Given the description of an element on the screen output the (x, y) to click on. 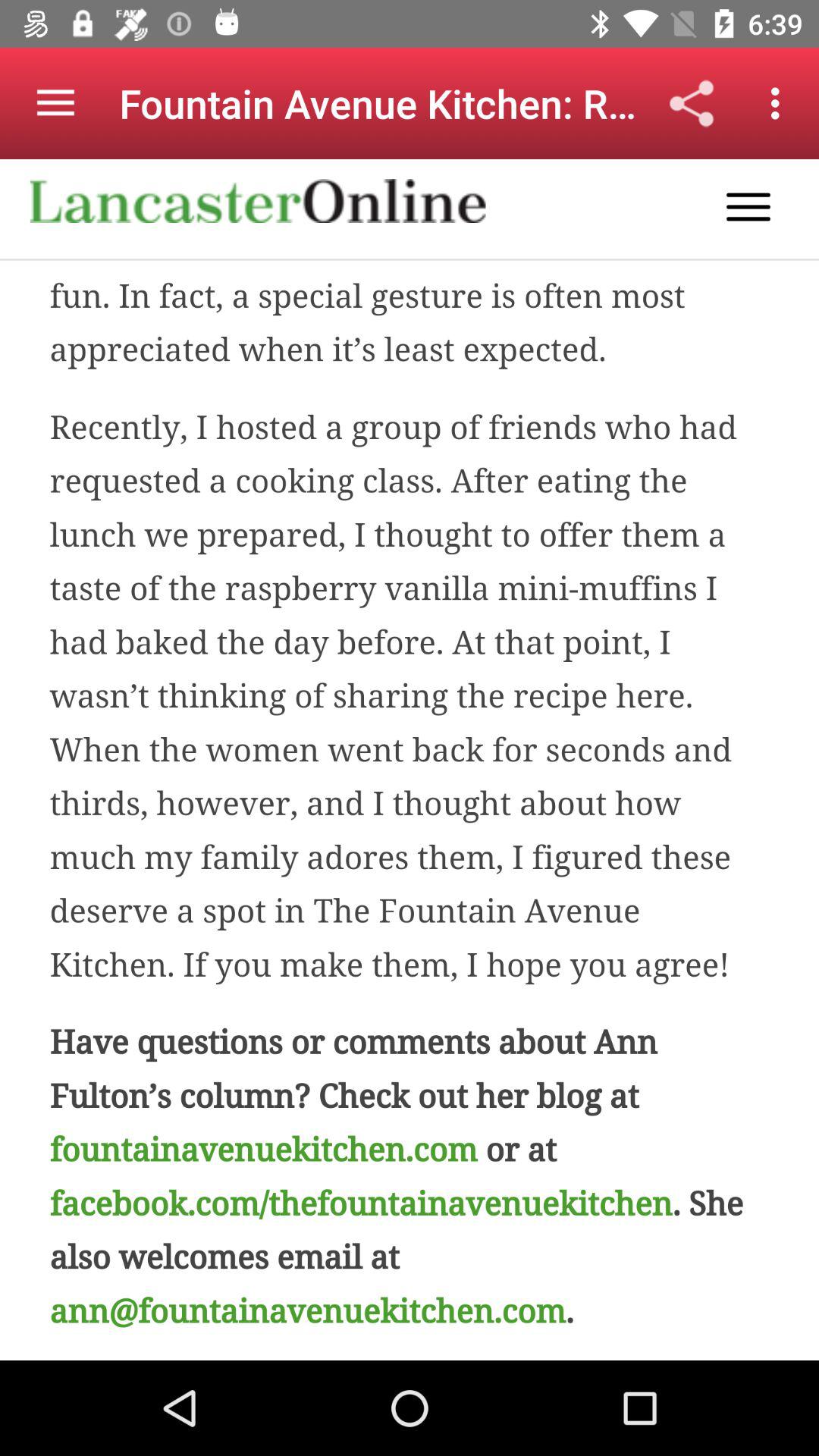
screen page (409, 759)
